Given the description of an element on the screen output the (x, y) to click on. 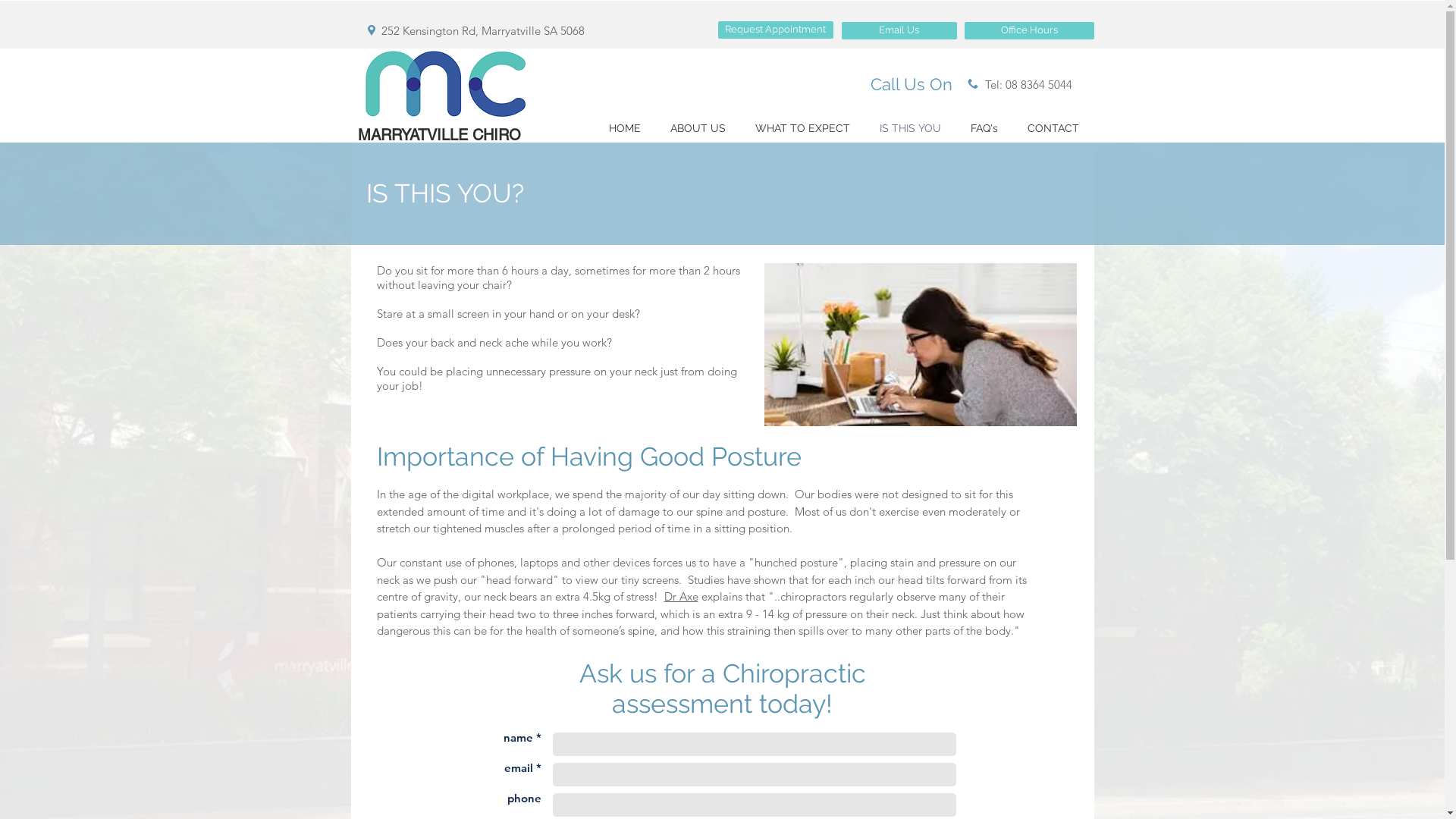
HOME Element type: text (624, 128)
CONTACT Element type: text (1053, 128)
Office Hours Element type: text (1029, 30)
Email Us Element type: text (899, 30)
MARRYATVILLE CHIRO Element type: text (438, 134)
ABOUT US Element type: text (697, 128)
08 8364 5044 Element type: text (1038, 84)
FAQ's Element type: text (983, 128)
WHAT TO EXPECT Element type: text (802, 128)
Dr Axe Element type: text (681, 596)
IS THIS YOU Element type: text (909, 128)
Request Appointment Element type: text (774, 29)
